Given the description of an element on the screen output the (x, y) to click on. 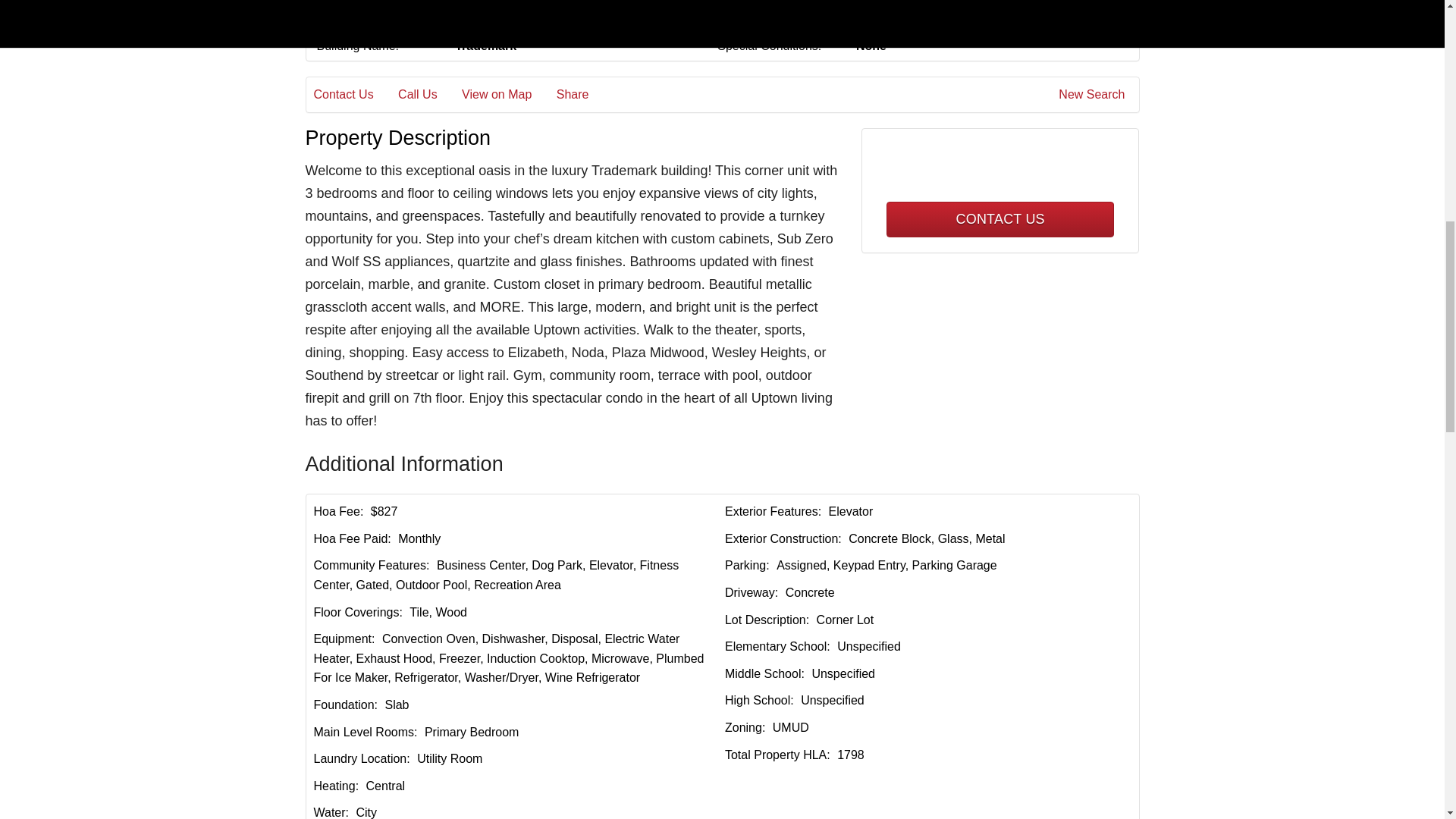
Contact Us (354, 94)
Share (583, 94)
704-608-0228 (1000, 172)
CONTACT US (999, 219)
New Search (1094, 94)
Call Us (427, 94)
View on Map (507, 94)
